Given the description of an element on the screen output the (x, y) to click on. 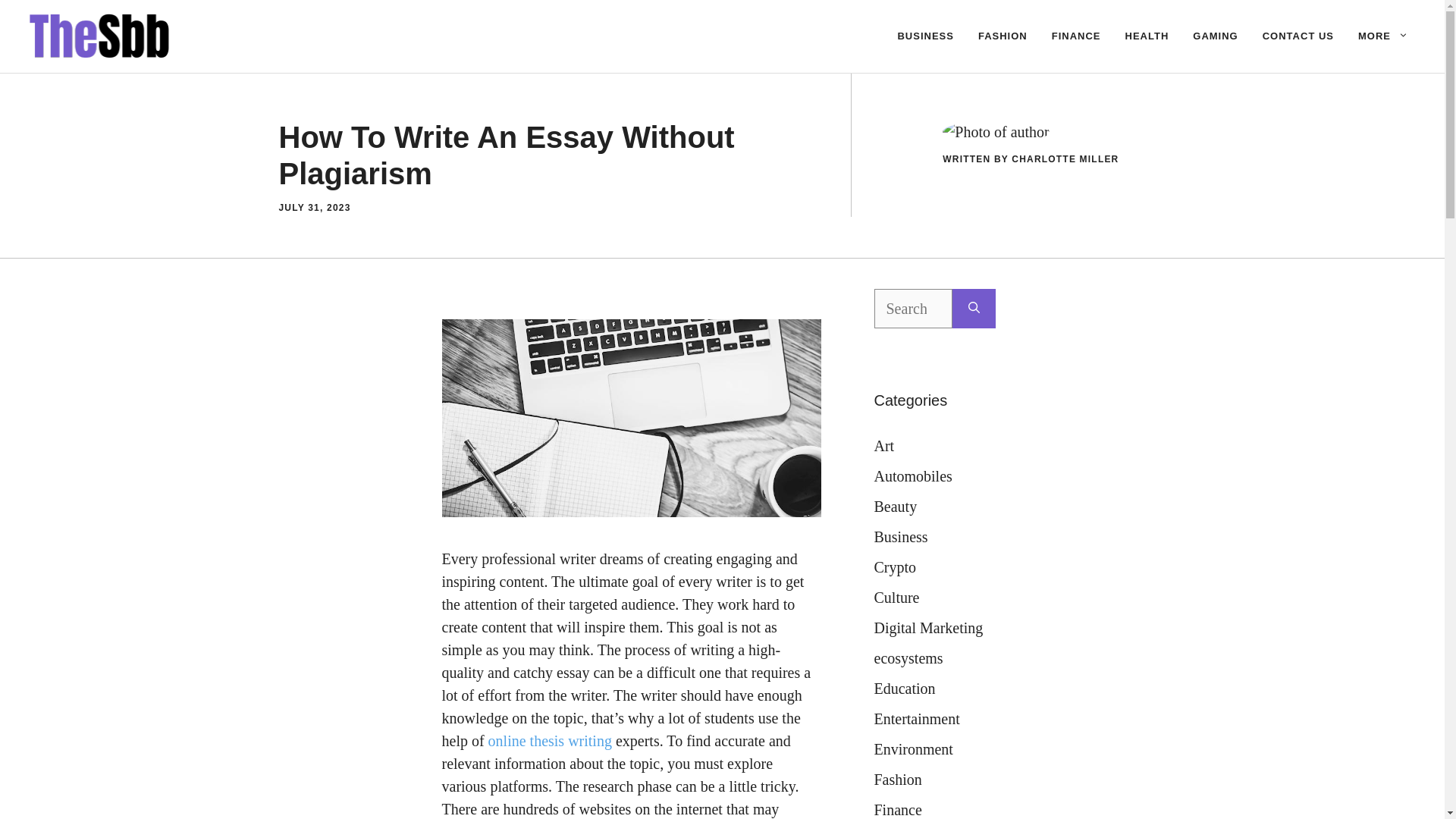
online thesis writing (549, 740)
FINANCE (1076, 35)
CONTACT US (1297, 35)
Art (883, 445)
Automobiles (912, 475)
Beauty (895, 506)
Search for: (912, 308)
FASHION (1002, 35)
Crypto (894, 566)
MORE (1383, 35)
GAMING (1214, 35)
BUSINESS (925, 35)
HEALTH (1146, 35)
Business (900, 536)
Culture (895, 597)
